Given the description of an element on the screen output the (x, y) to click on. 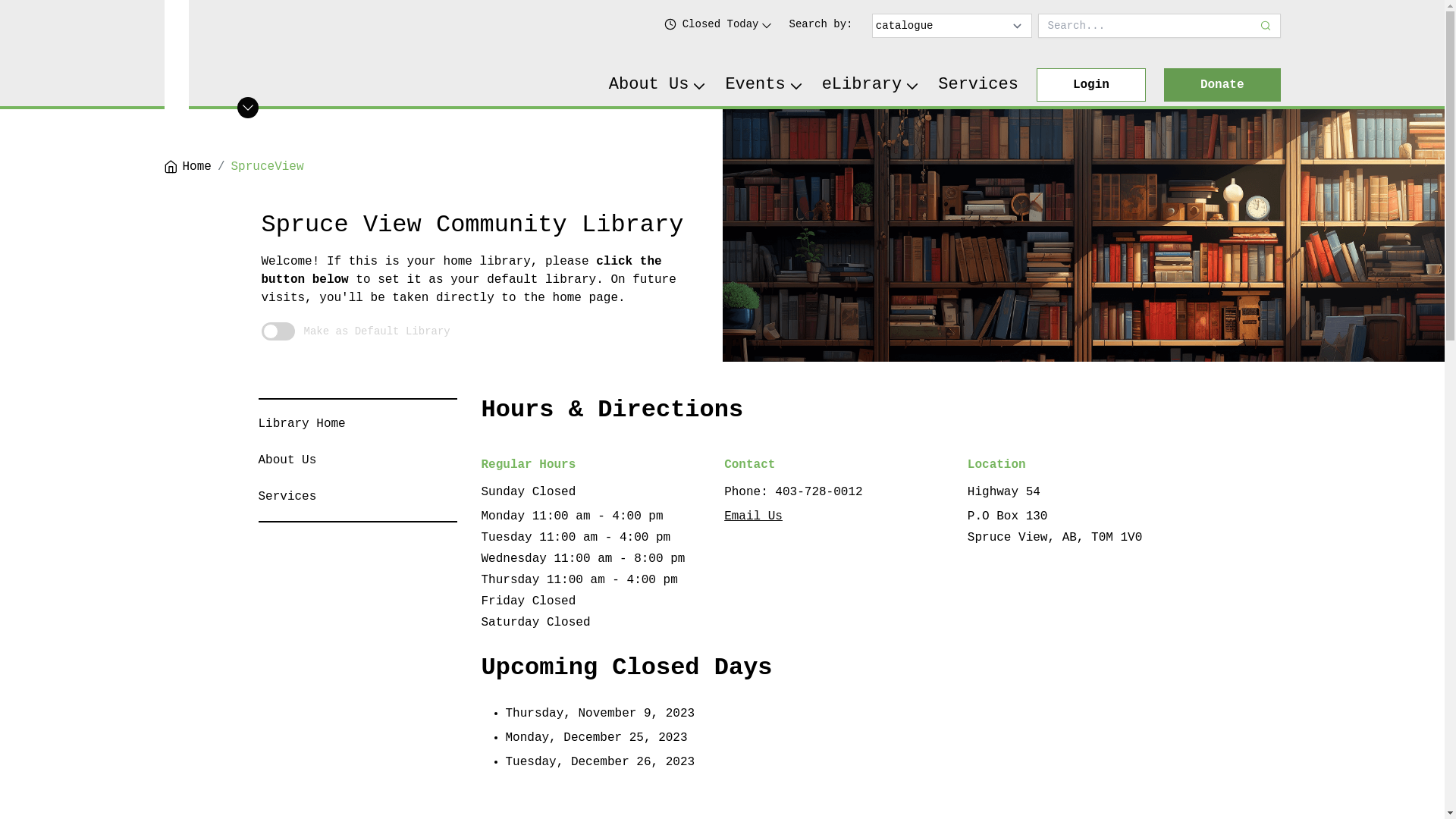
eLibrary Element type: text (871, 84)
Services Element type: text (286, 496)
About Us Element type: text (657, 84)
Library Home Element type: text (301, 423)
Login Element type: text (1090, 84)
About Us Element type: text (286, 460)
Home Element type: text (186, 166)
SpruceView Element type: text (267, 166)
Email Us Element type: text (753, 516)
Services Element type: text (978, 84)
Donate Element type: text (1222, 84)
Events Element type: text (763, 84)
